Given the description of an element on the screen output the (x, y) to click on. 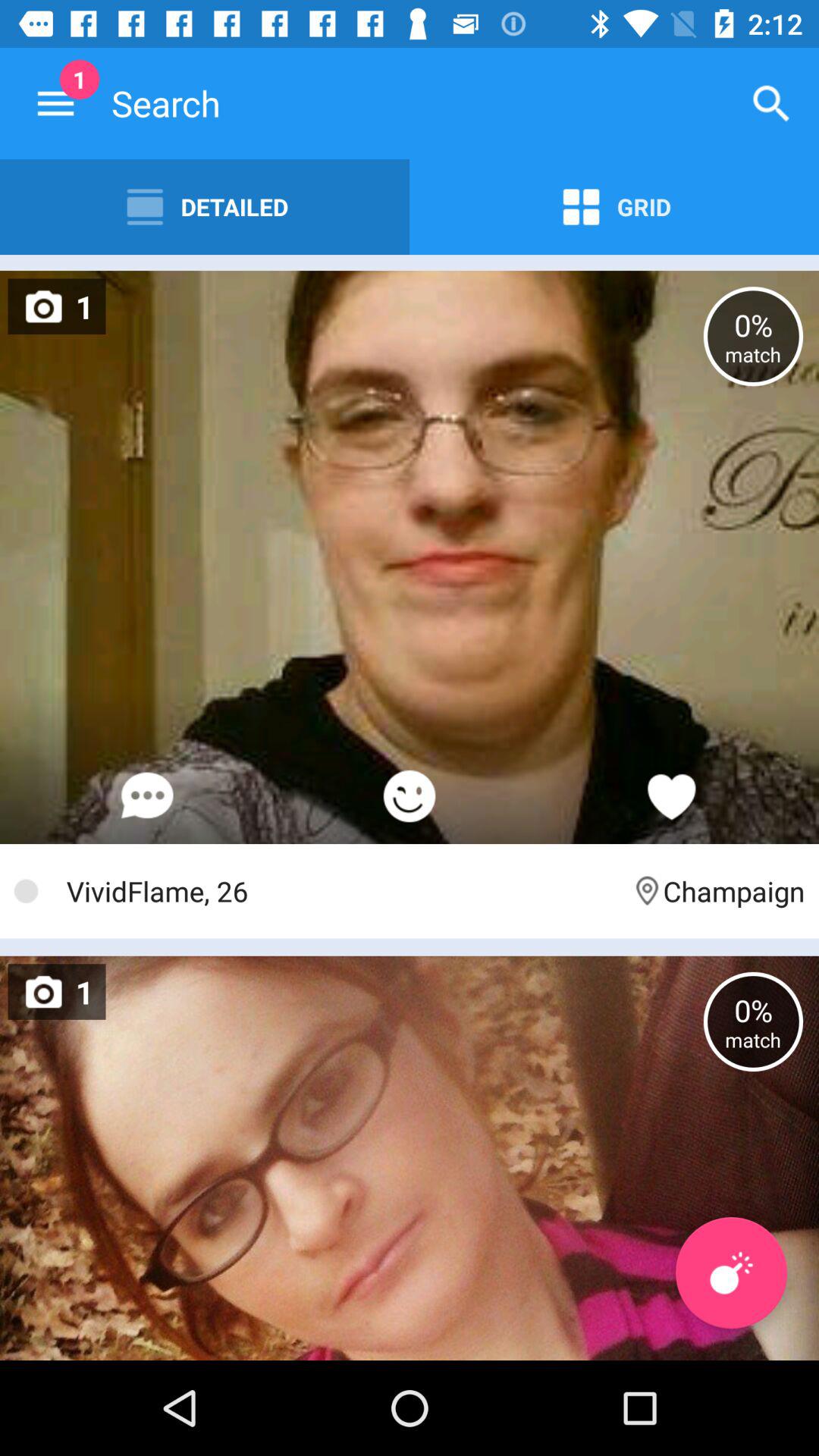
flip to the vividflame, 26 icon (341, 891)
